Given the description of an element on the screen output the (x, y) to click on. 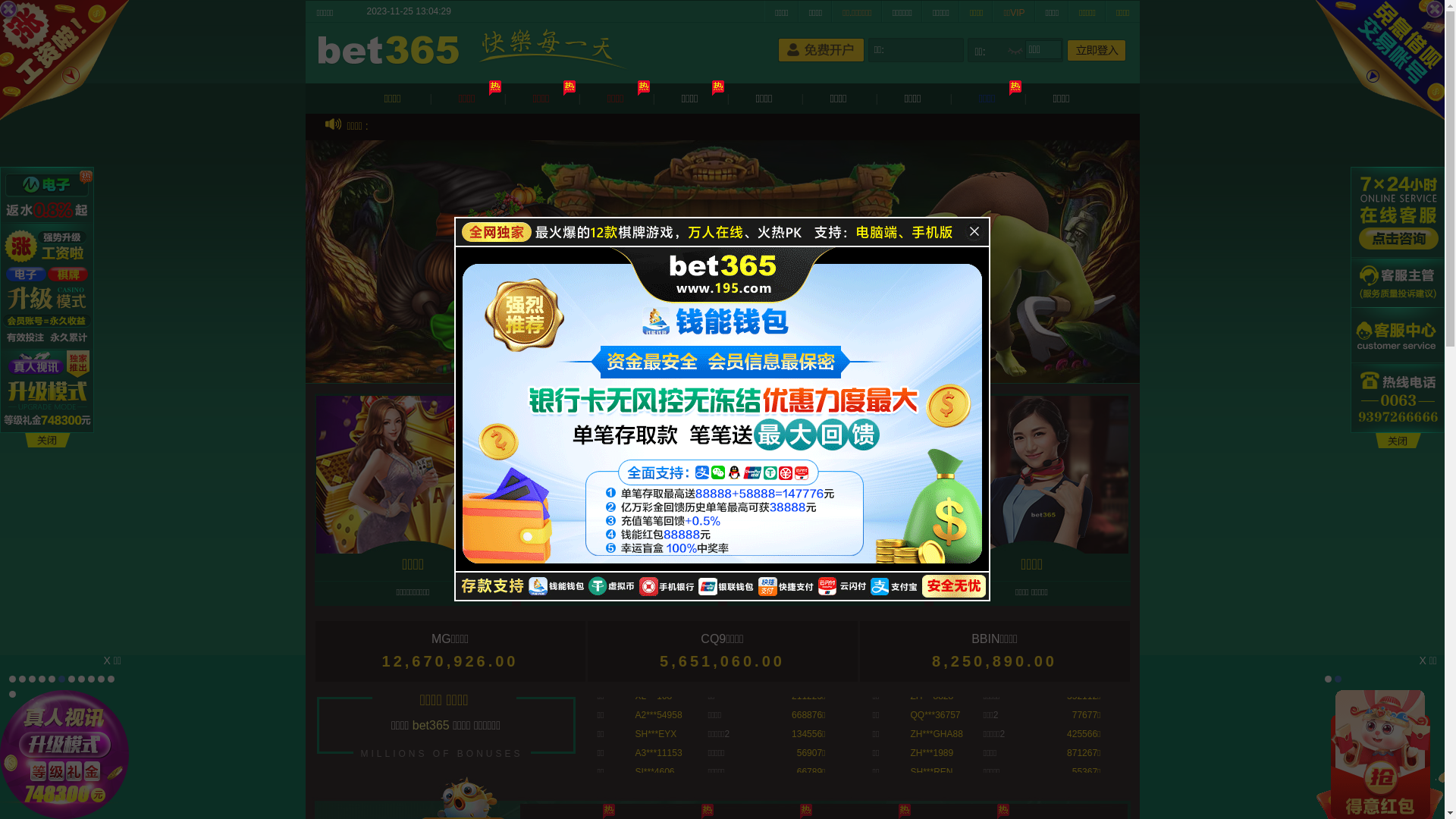
6 Element type: text (61, 678)
11 Element type: text (110, 678)
10 Element type: text (100, 678)
2 Element type: text (1337, 678)
BET365 Element type: hover (390, 51)
5 Element type: text (51, 678)
8 Element type: text (81, 678)
4 Element type: text (41, 678)
2 Element type: text (21, 678)
7 Element type: text (71, 678)
9 Element type: text (90, 678)
1 Element type: text (12, 678)
3 Element type: text (31, 678)
1 Element type: text (1327, 678)
12 Element type: text (12, 693)
